Given the description of an element on the screen output the (x, y) to click on. 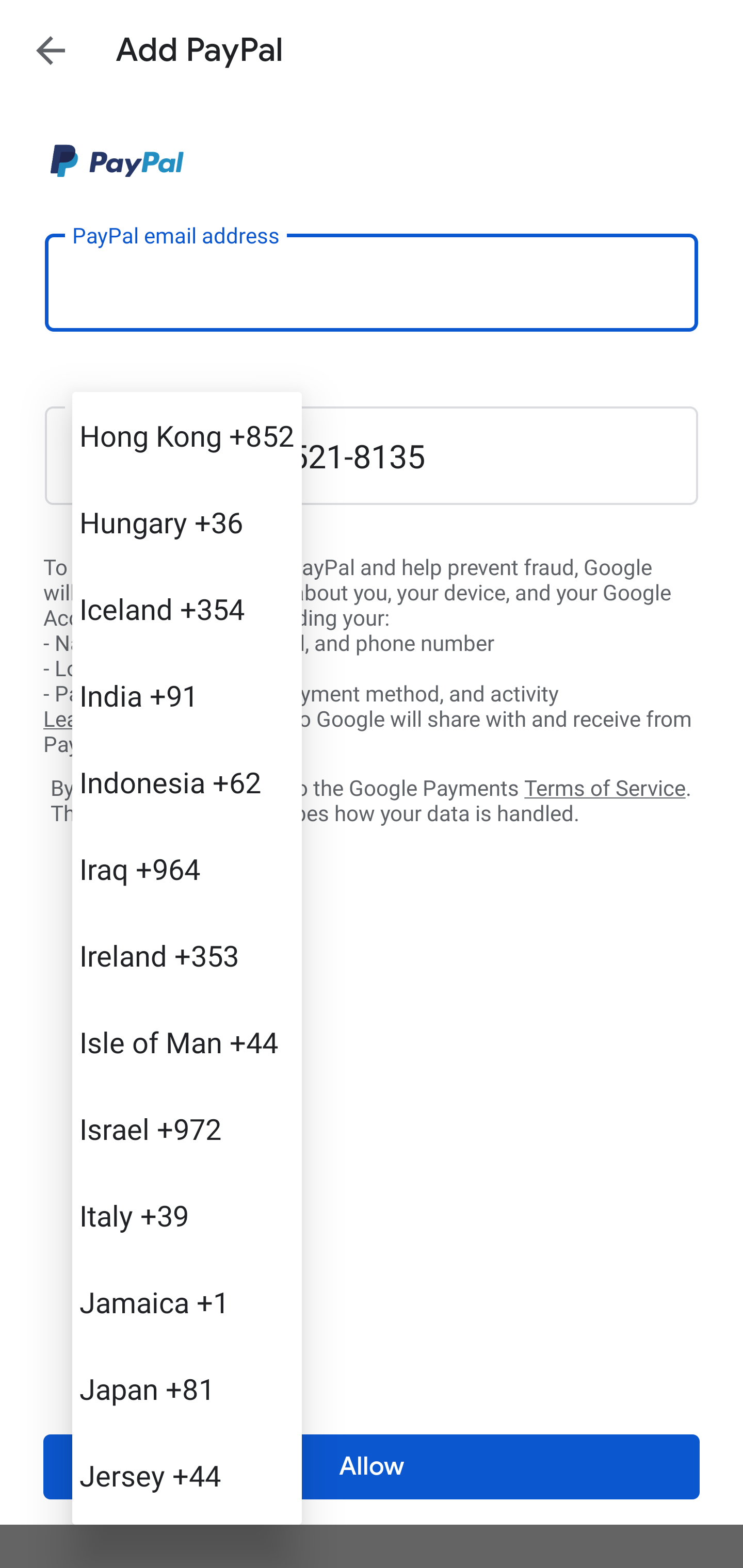
Hong Kong +852 (186, 435)
Hungary +36 (186, 522)
Iceland +354 (186, 609)
India +91 (186, 695)
Indonesia +62 (186, 781)
Iraq +964 (186, 868)
Ireland +353 (186, 955)
Isle of Man +44 (186, 1041)
Israel +972 (186, 1128)
Italy +39 (186, 1215)
Jamaica +1 (186, 1302)
Japan +81 (186, 1388)
Jersey +44 (186, 1474)
